Given the description of an element on the screen output the (x, y) to click on. 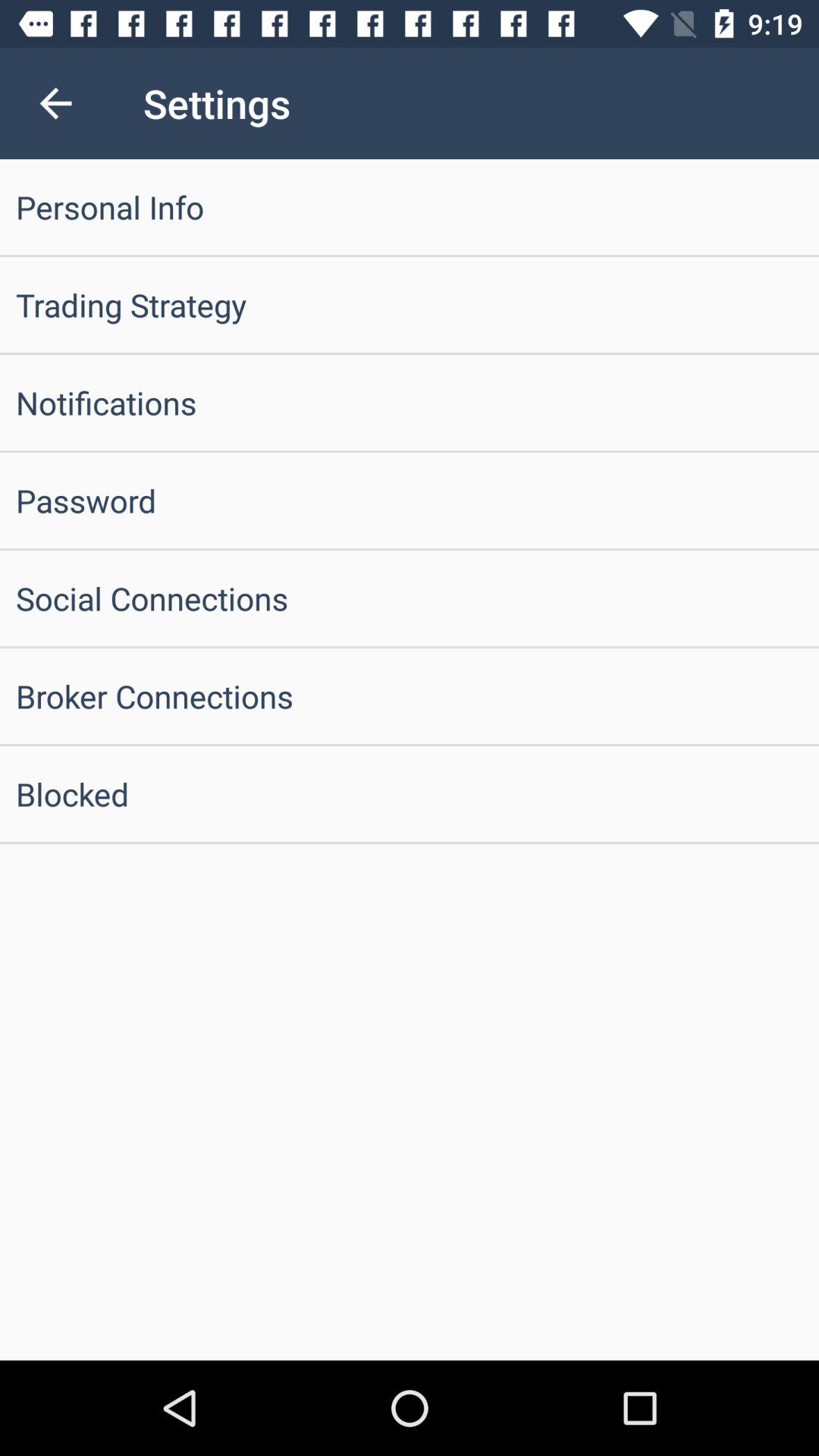
tap icon above the broker connections icon (409, 598)
